Given the description of an element on the screen output the (x, y) to click on. 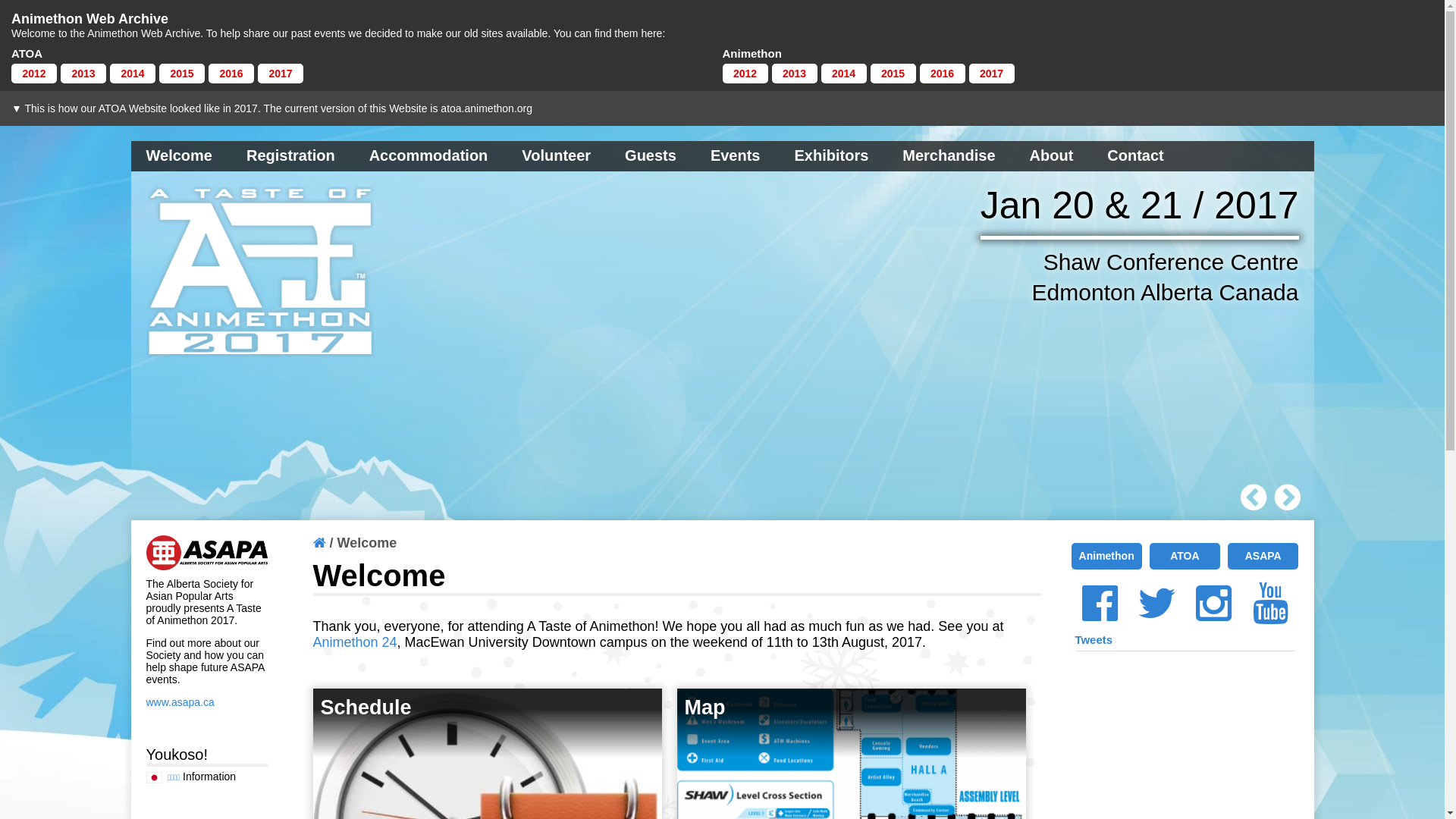
Welcome Element type: text (178, 156)
Animethon 24 Element type: text (354, 641)
Registration Element type: text (290, 156)
2012 Element type: text (744, 73)
Tweets Element type: text (1093, 639)
Instagram Element type: hover (1212, 603)
2013 Element type: text (83, 73)
Facebook Element type: hover (1098, 603)
2012 Element type: text (33, 73)
Contact Element type: text (1135, 156)
Merchandise Element type: text (948, 156)
YouTube Element type: hover (1270, 603)
2014 Element type: text (132, 73)
Volunteer Element type: text (555, 156)
2015 Element type: text (893, 73)
2014 Element type: text (843, 73)
ASAPA Element type: text (1262, 555)
Exhibitors Element type: text (831, 156)
Guests Element type: text (650, 156)
2016 Element type: text (231, 73)
Here's where you are in the site: Element type: hover (318, 542)
www.asapa.ca Element type: text (179, 702)
atoa.animethon.org Element type: text (486, 108)
Events Element type: text (735, 156)
About Element type: text (1051, 156)
2013 Element type: text (794, 73)
2017 Element type: text (280, 73)
Accommodation Element type: text (428, 156)
2016 Element type: text (941, 73)
2017 Element type: text (991, 73)
ATOA Element type: text (1184, 555)
Twitter Element type: hover (1156, 603)
Animethon Element type: text (1105, 555)
2015 Element type: text (181, 73)
